Given the description of an element on the screen output the (x, y) to click on. 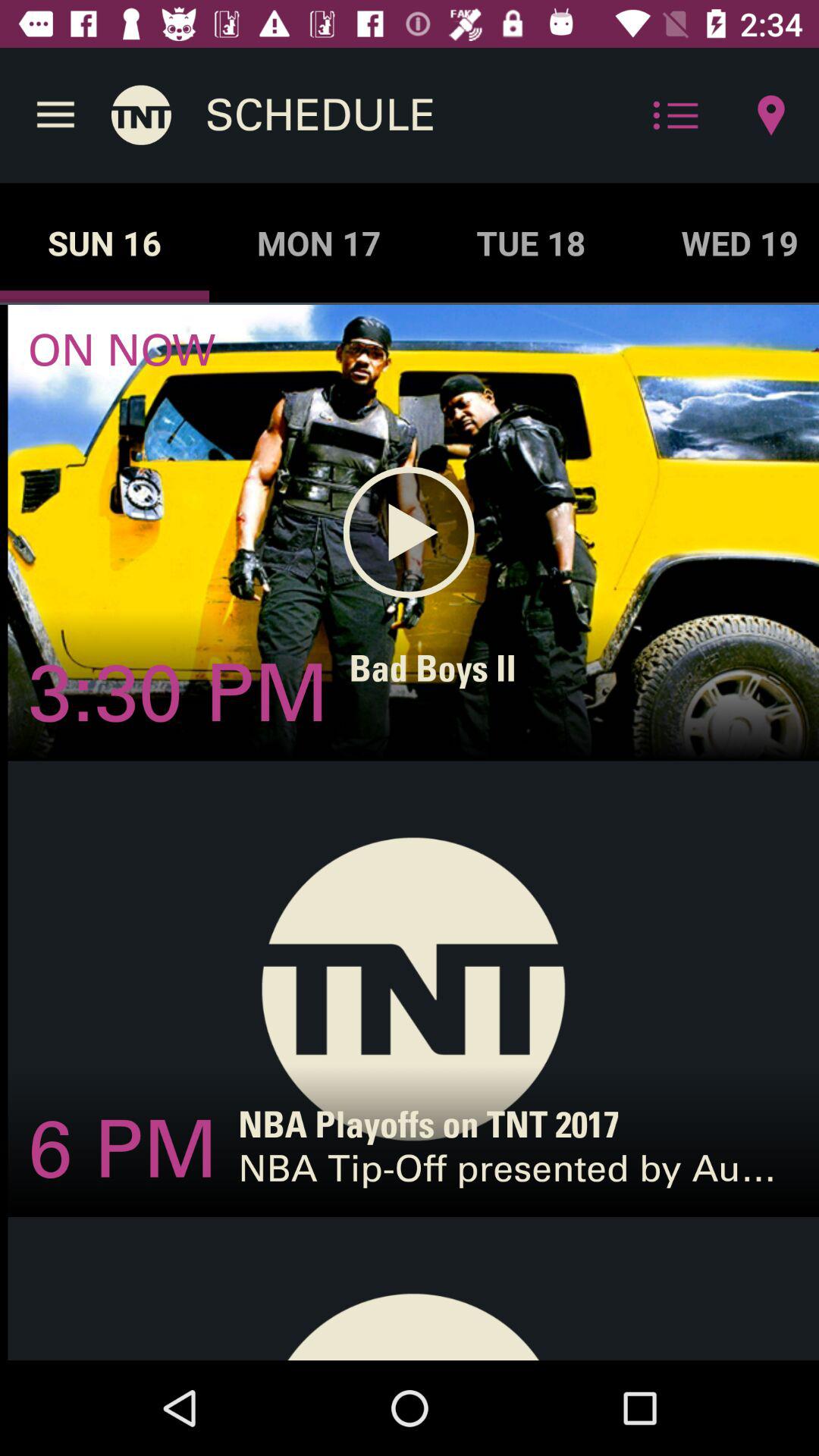
turn on the icon above the tue 18 icon (675, 115)
